Given the description of an element on the screen output the (x, y) to click on. 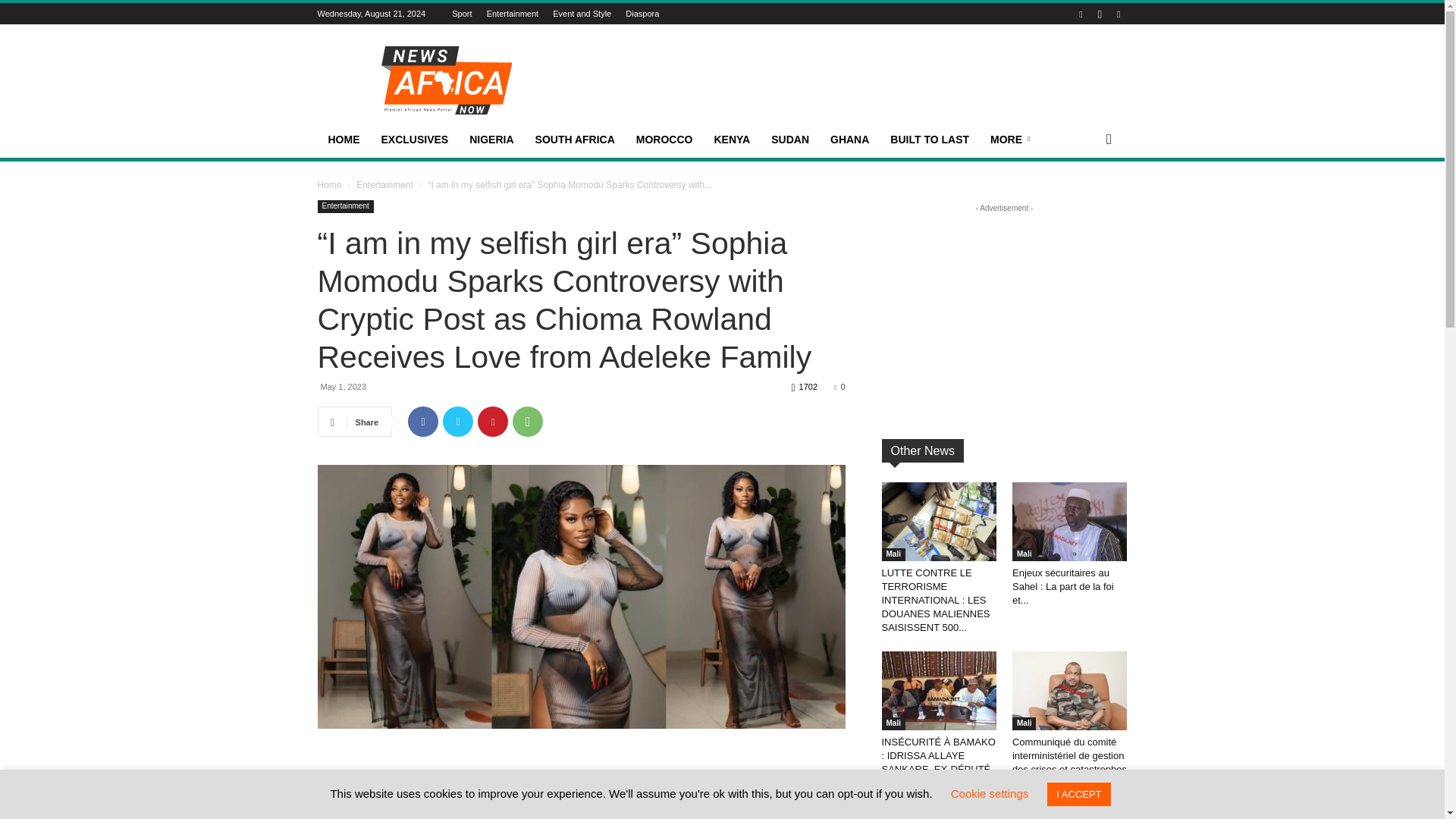
View all posts in Entertainment (384, 184)
Event and Style (582, 13)
WhatsApp (527, 421)
Twitter (457, 421)
MOROCCO (664, 139)
Facebook (422, 421)
NIGERIA (491, 139)
Pinterest (492, 421)
HOME (343, 139)
EXCLUSIVES (413, 139)
